Given the description of an element on the screen output the (x, y) to click on. 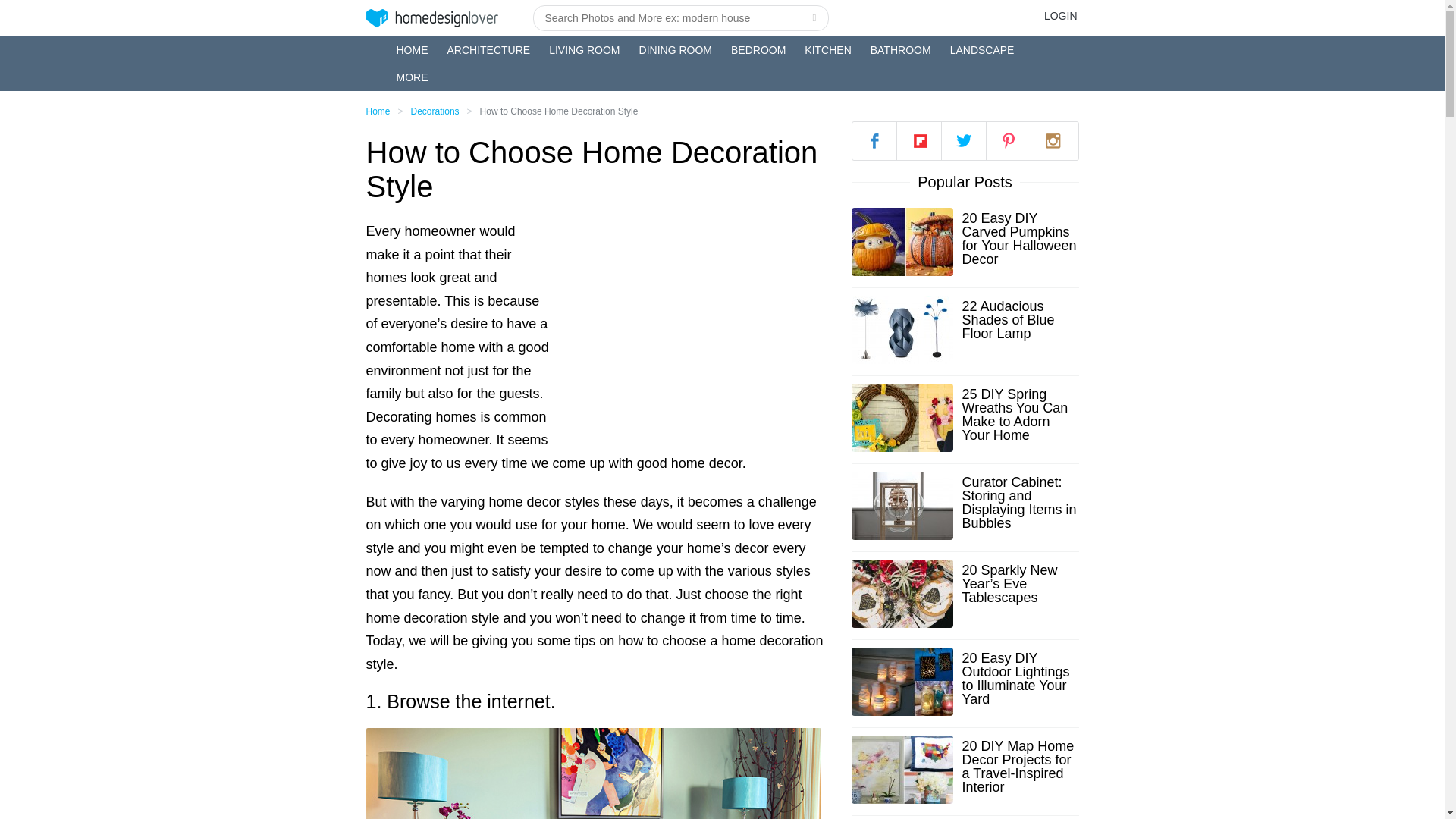
HOME (412, 49)
LOGIN (1060, 15)
20 Easy DIY Carved Pumpkins for Your Halloween Decor (1019, 238)
Decorations (435, 111)
KITCHEN (827, 49)
BATHROOM (900, 49)
LANDSCAPE (982, 49)
BEDROOM (758, 49)
ARCHITECTURE (488, 49)
25 DIY Spring Wreaths You Can Make to Adorn Your Home (1019, 414)
22 Audacious Shades of Blue Floor Lamp (1019, 319)
MORE (412, 76)
Home (377, 111)
LIVING ROOM (584, 49)
DINING ROOM (675, 49)
